Given the description of an element on the screen output the (x, y) to click on. 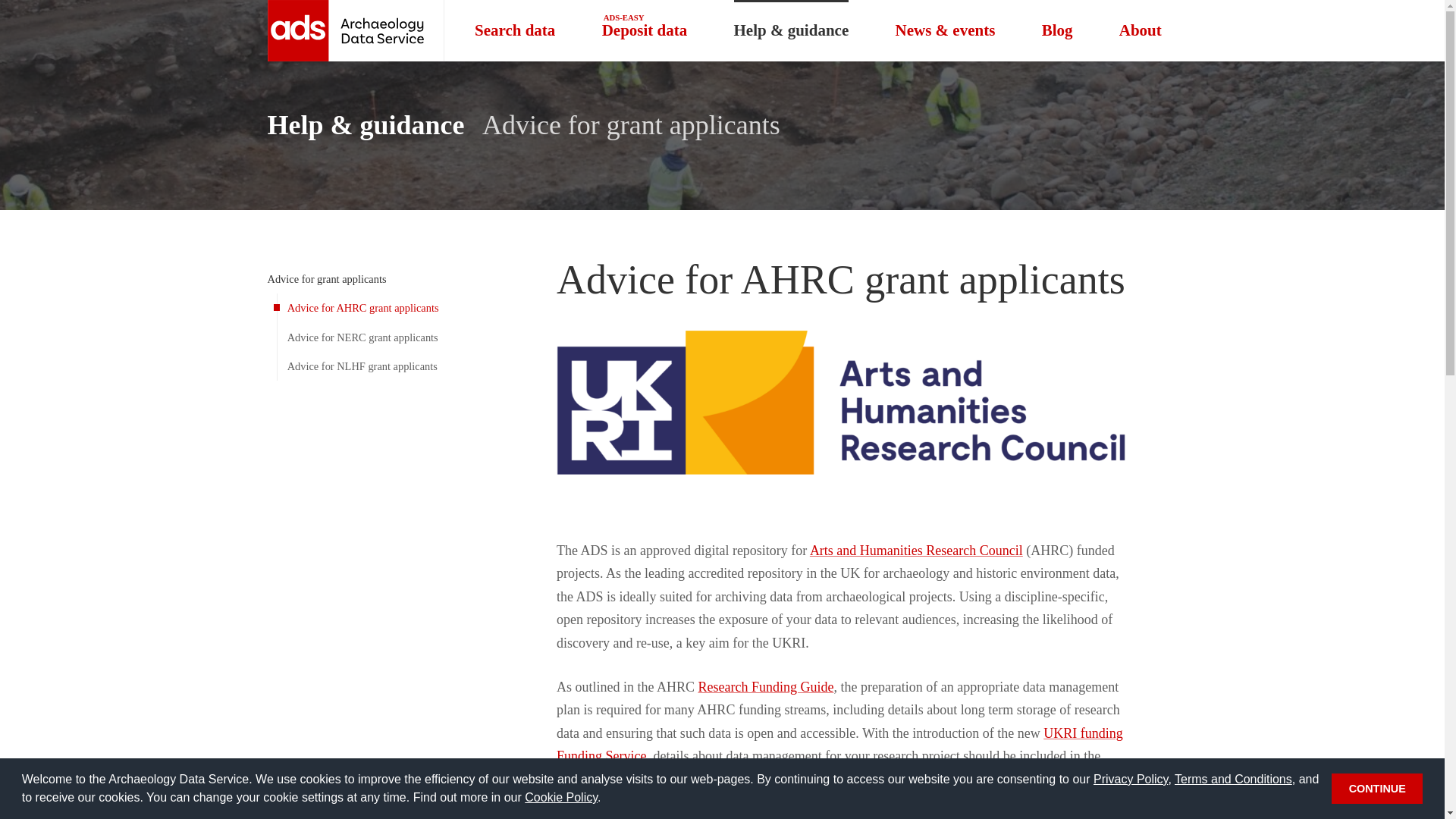
Privacy Policy (1130, 779)
Blog (1056, 30)
Search data (514, 30)
Terms and Conditions (1233, 779)
Cookie Policy (560, 797)
CONTINUE (1377, 788)
About (644, 30)
